Given the description of an element on the screen output the (x, y) to click on. 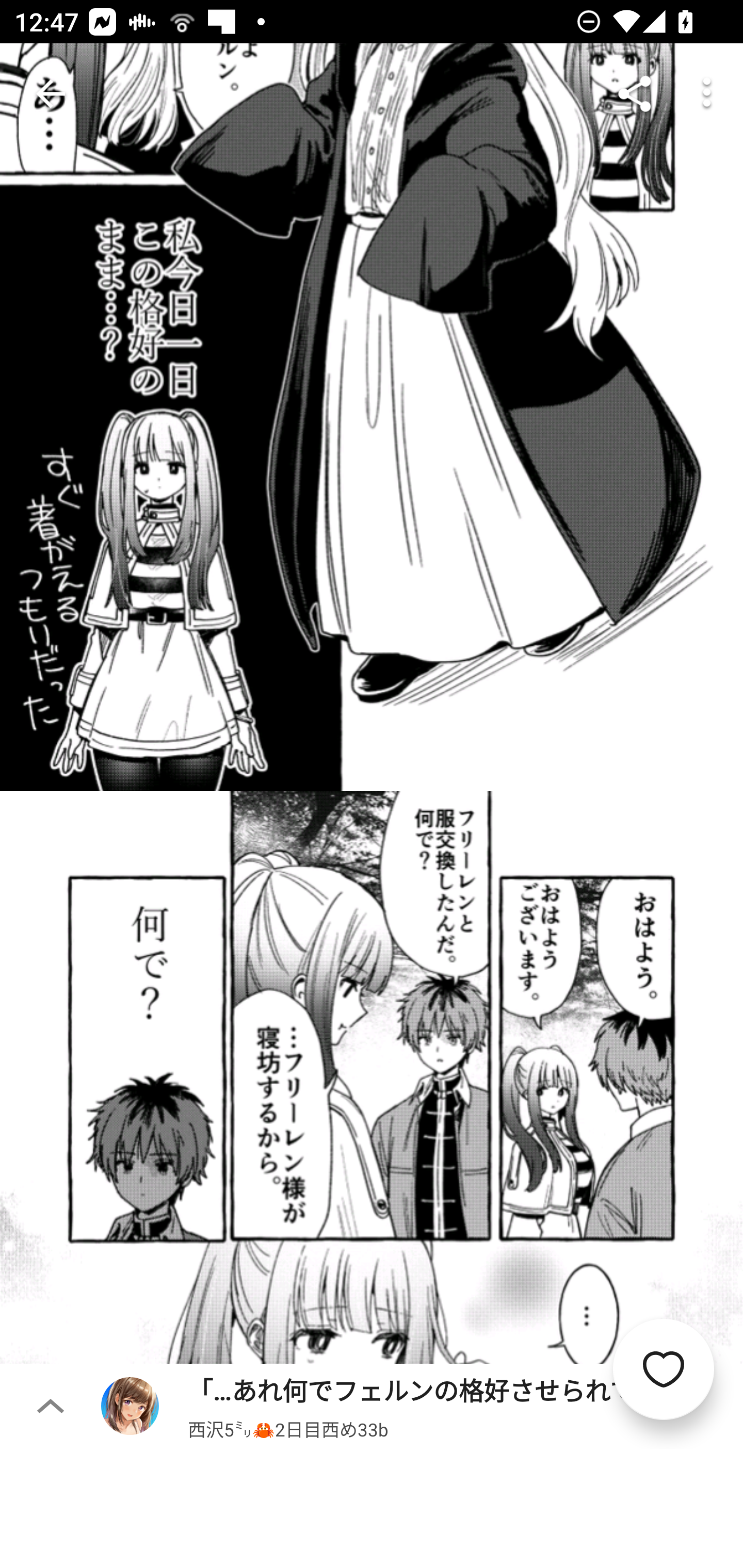
Share (634, 93)
More options (706, 93)
「…あれ何でフェルンの格好させられてるんだ。」 西沢5㍉🦀2日目西め33b (422, 1405)
西沢5㍉🦀2日目西め33b (287, 1427)
